Given the description of an element on the screen output the (x, y) to click on. 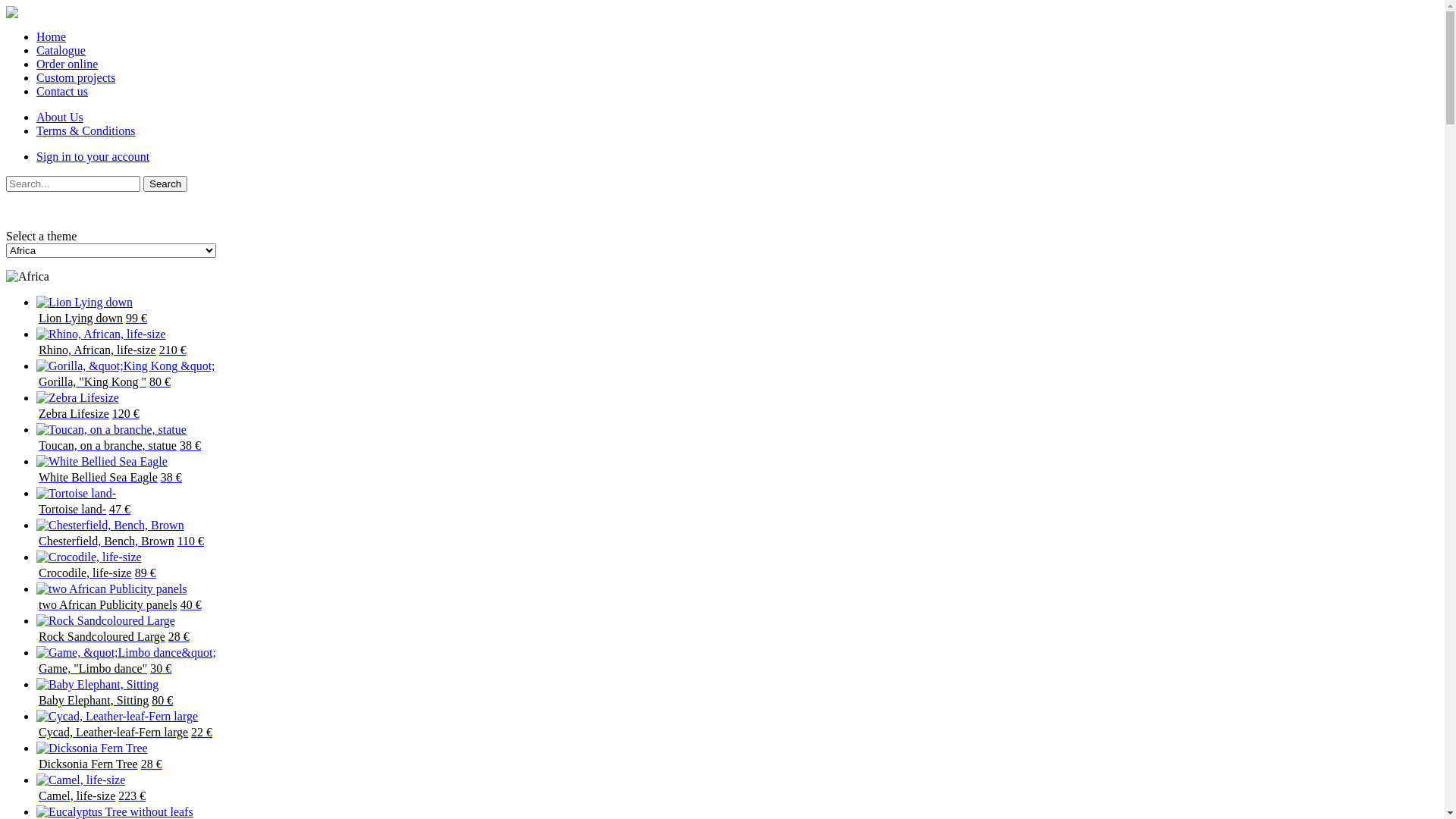
Catalogue Element type: text (60, 49)
Contact us Element type: text (61, 90)
Home Element type: text (50, 36)
About Us Element type: text (59, 116)
Search Element type: text (165, 183)
Terms & Conditions Element type: text (85, 130)
Order online Element type: text (66, 63)
Custom projects Element type: text (75, 77)
Sign in to your account Element type: text (92, 156)
